Given the description of an element on the screen output the (x, y) to click on. 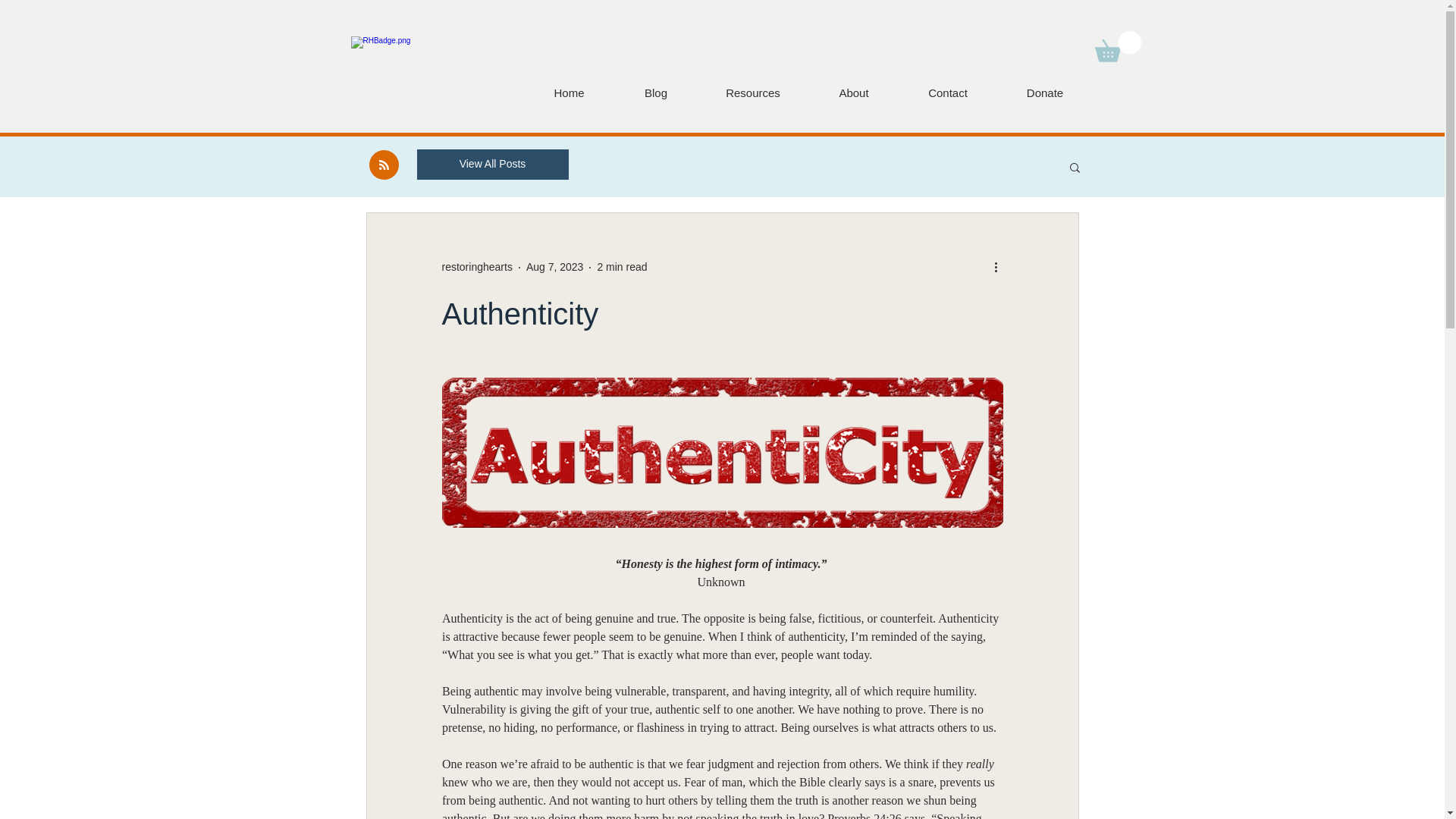
About (853, 92)
Donate (1044, 92)
2 min read (621, 266)
Home (568, 92)
Blog (655, 92)
Contact (948, 92)
Aug 7, 2023 (554, 266)
restoringhearts (476, 267)
restoringhearts (476, 267)
